Given the description of an element on the screen output the (x, y) to click on. 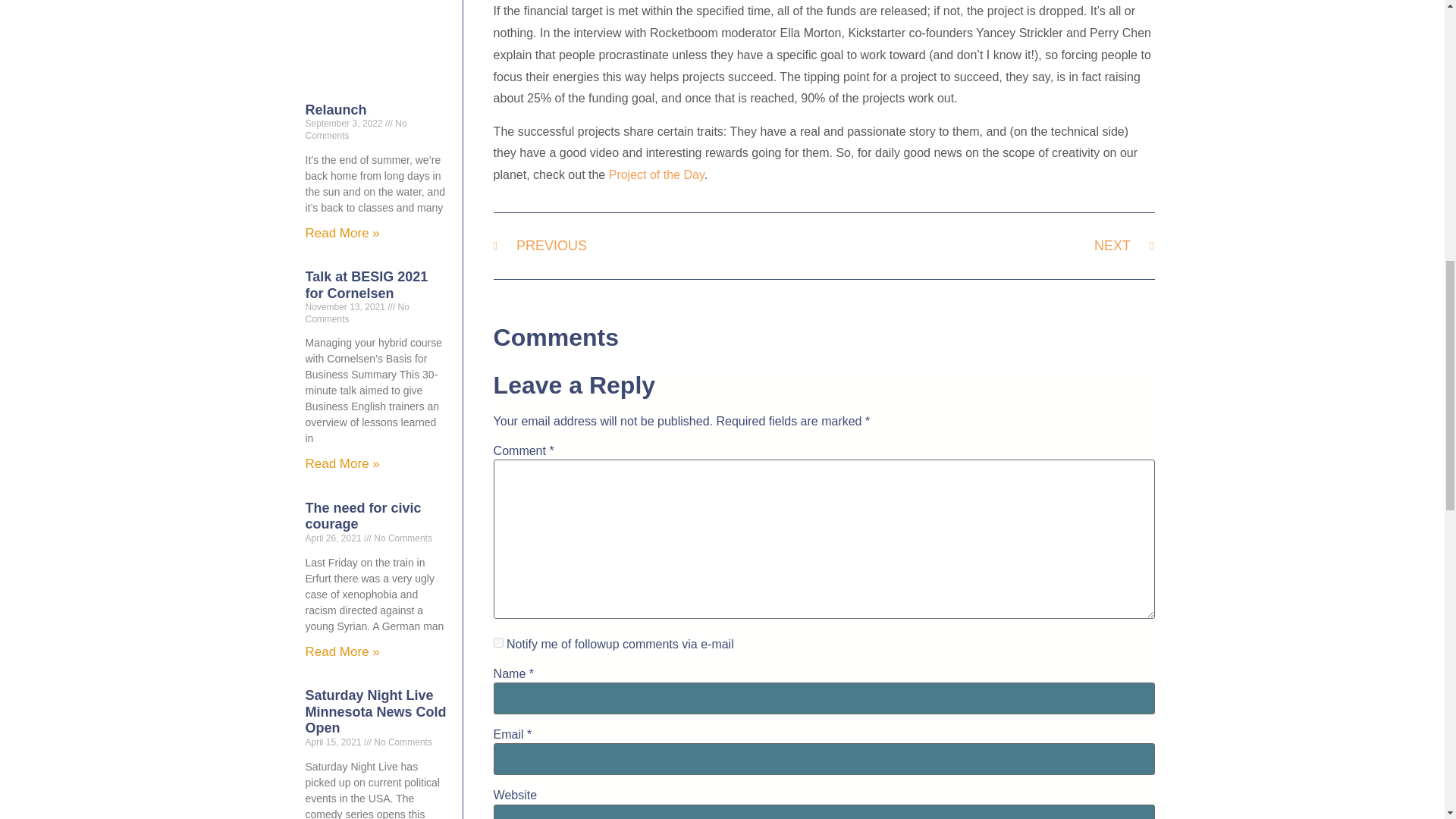
Talk at BESIG 2021 for Cornelsen (366, 285)
Saturday Night Live Minnesota News Cold Open (374, 711)
The need for civic courage (362, 516)
subscribe (498, 642)
Relaunch (335, 109)
